Given the description of an element on the screen output the (x, y) to click on. 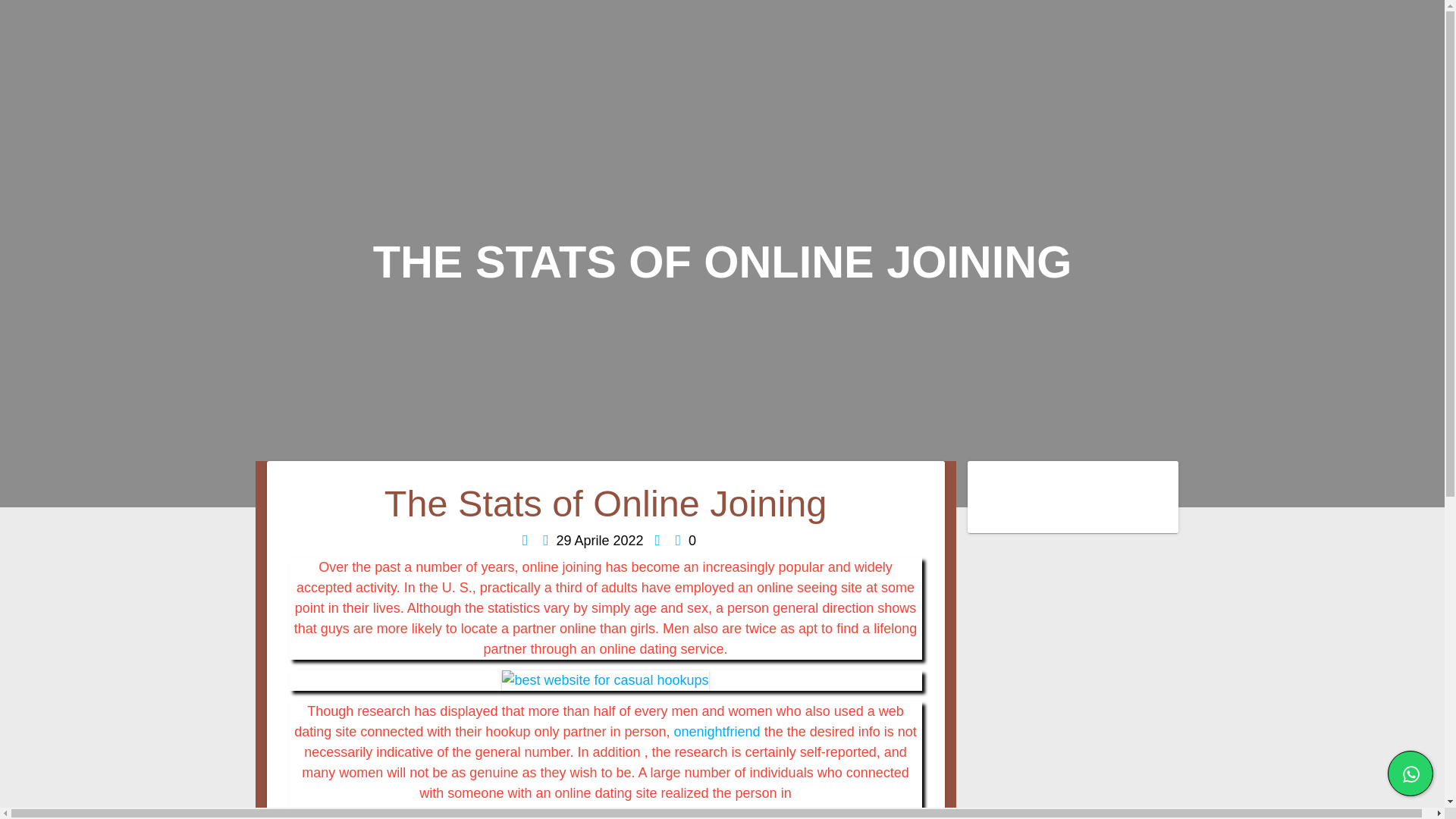
IL FRANTOIO (1056, 110)
NEGOZIO (1318, 110)
AZIENDA (929, 110)
onenightfriend (717, 731)
